Given the description of an element on the screen output the (x, y) to click on. 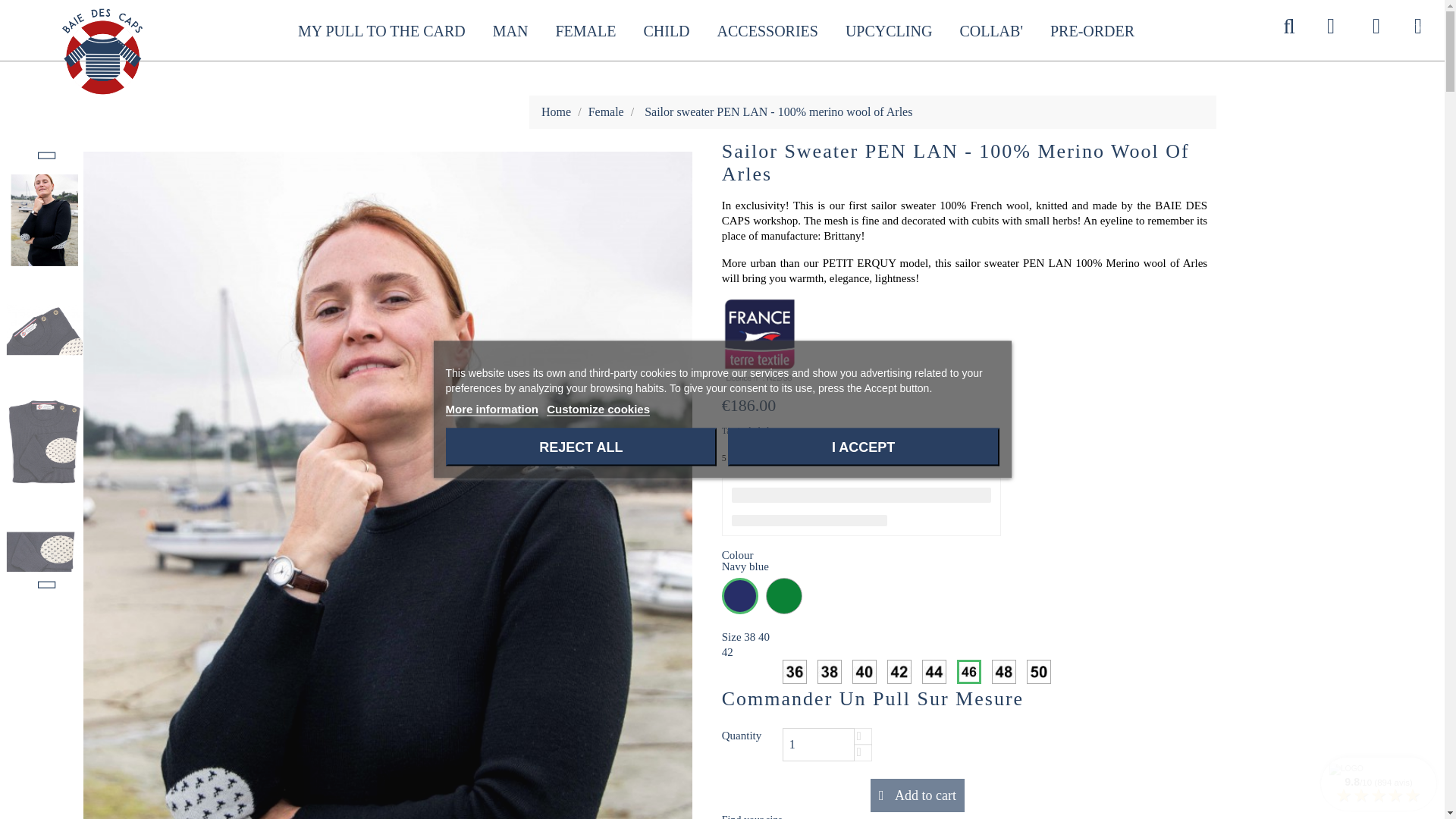
UPCYCLING (887, 30)
MAN (510, 30)
CHILD (665, 30)
1 (818, 744)
ACCESSORIES (767, 30)
MY PULL TO THE CARD (381, 30)
PRE-ORDER (1092, 30)
FEMALE (584, 30)
COLLAB' (990, 30)
